Given the description of an element on the screen output the (x, y) to click on. 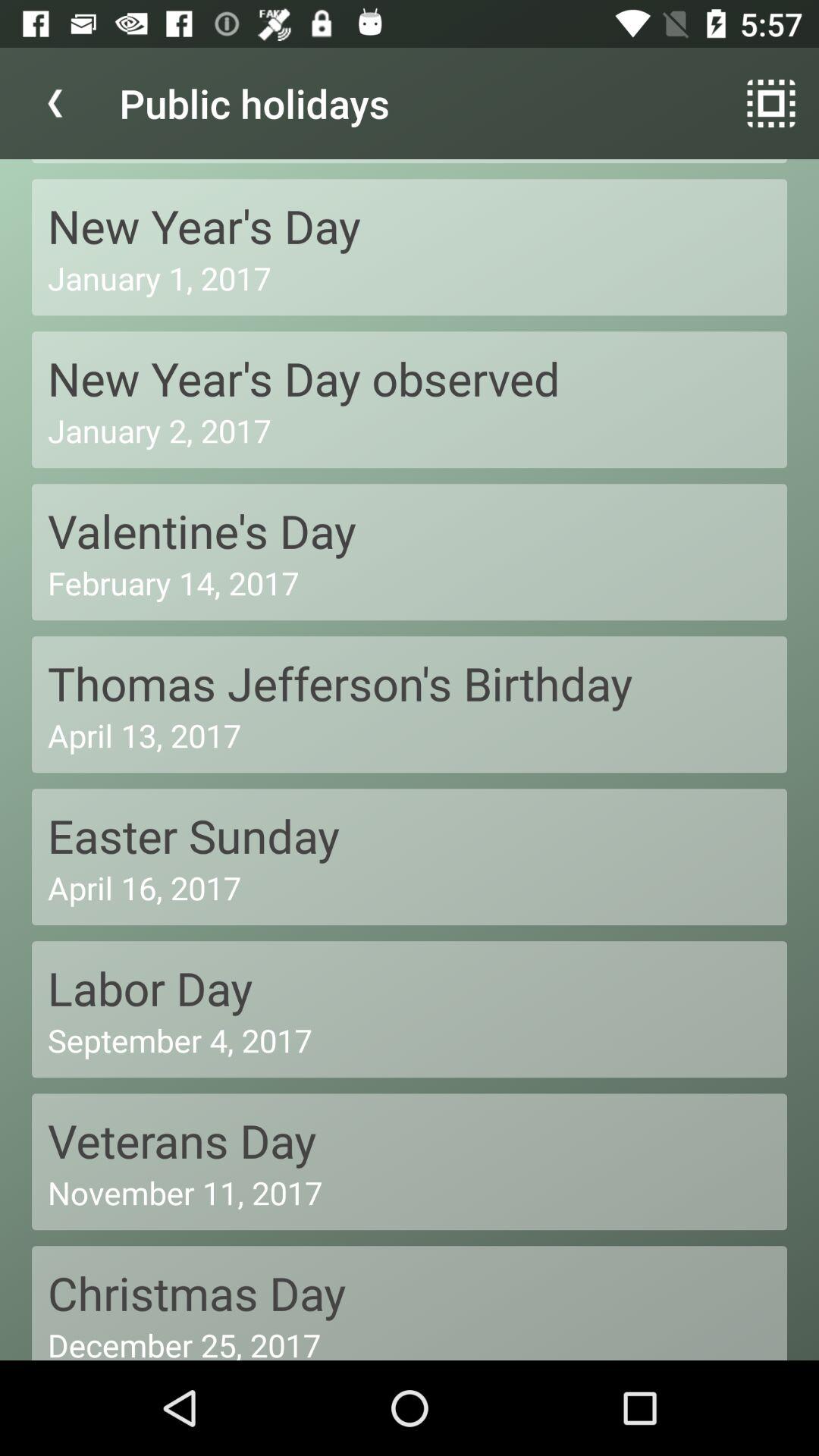
select the item above veterans day item (409, 1039)
